Given the description of an element on the screen output the (x, y) to click on. 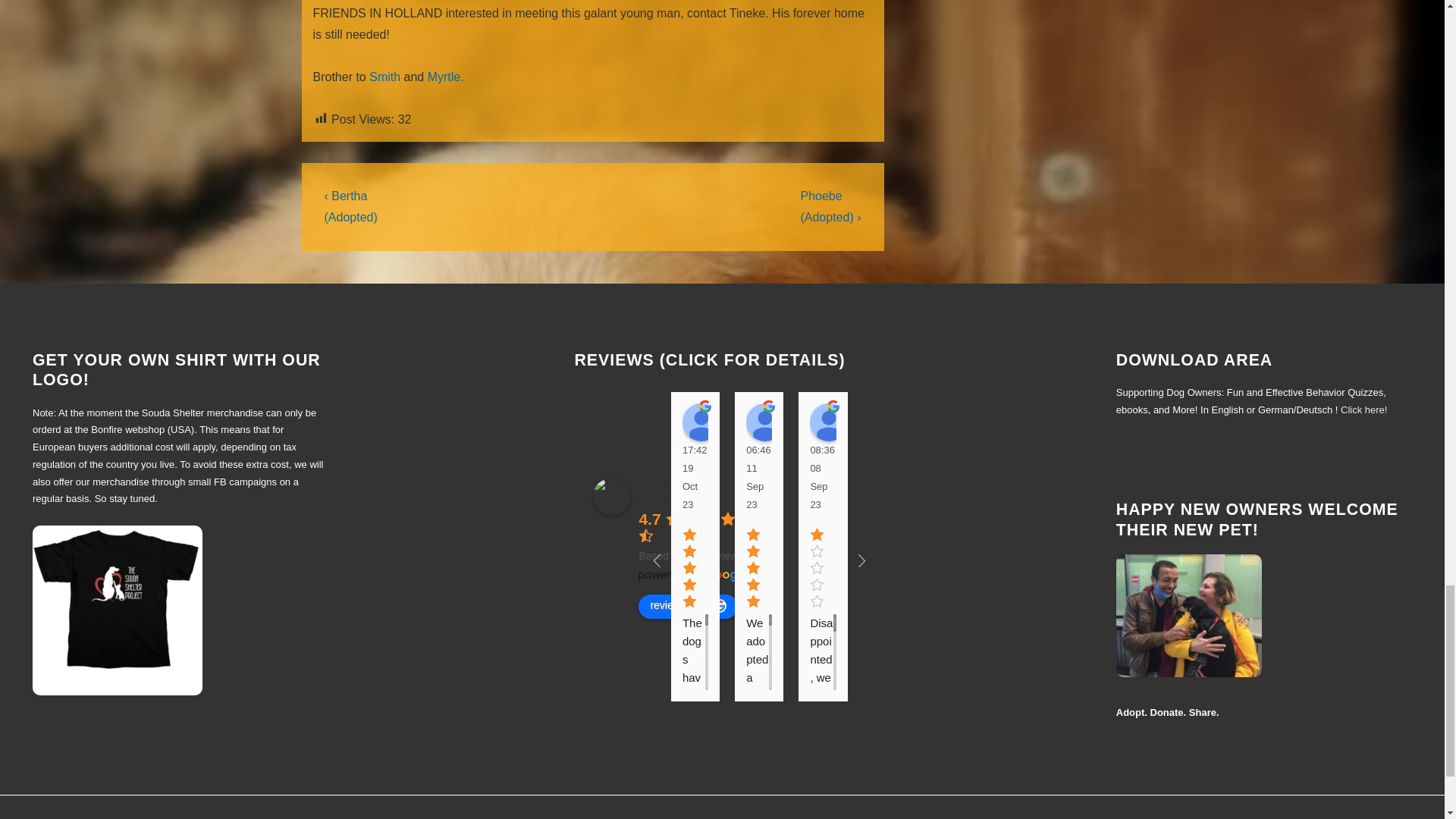
powered by Google (693, 574)
Der Empfang (828, 422)
L (764, 422)
Hannah Charalambous (893, 422)
Loes De Kater (701, 422)
Merchandise SHOP (117, 610)
